Given the description of an element on the screen output the (x, y) to click on. 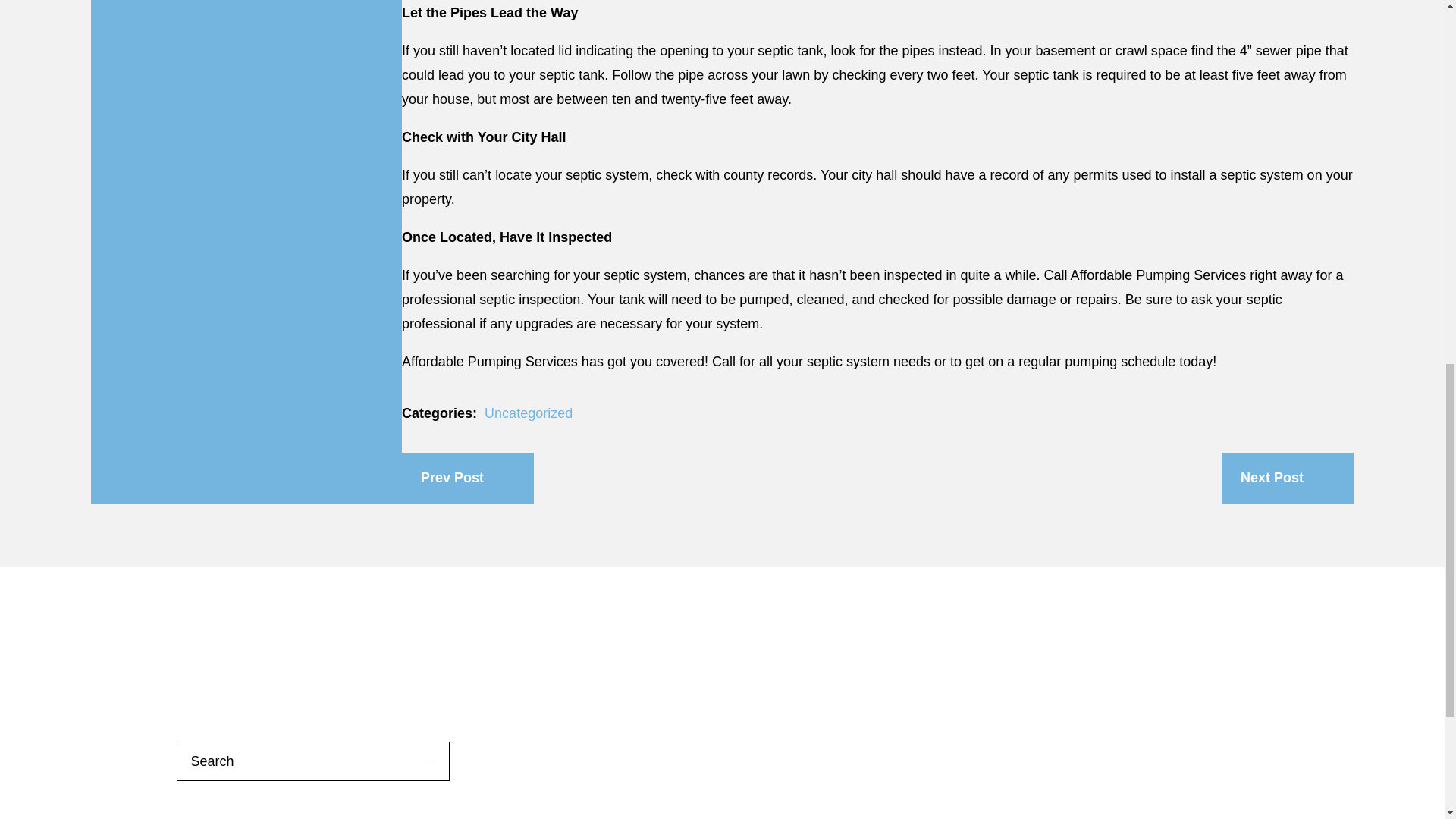
Twitter (389, 648)
Facebook (236, 648)
